Given the description of an element on the screen output the (x, y) to click on. 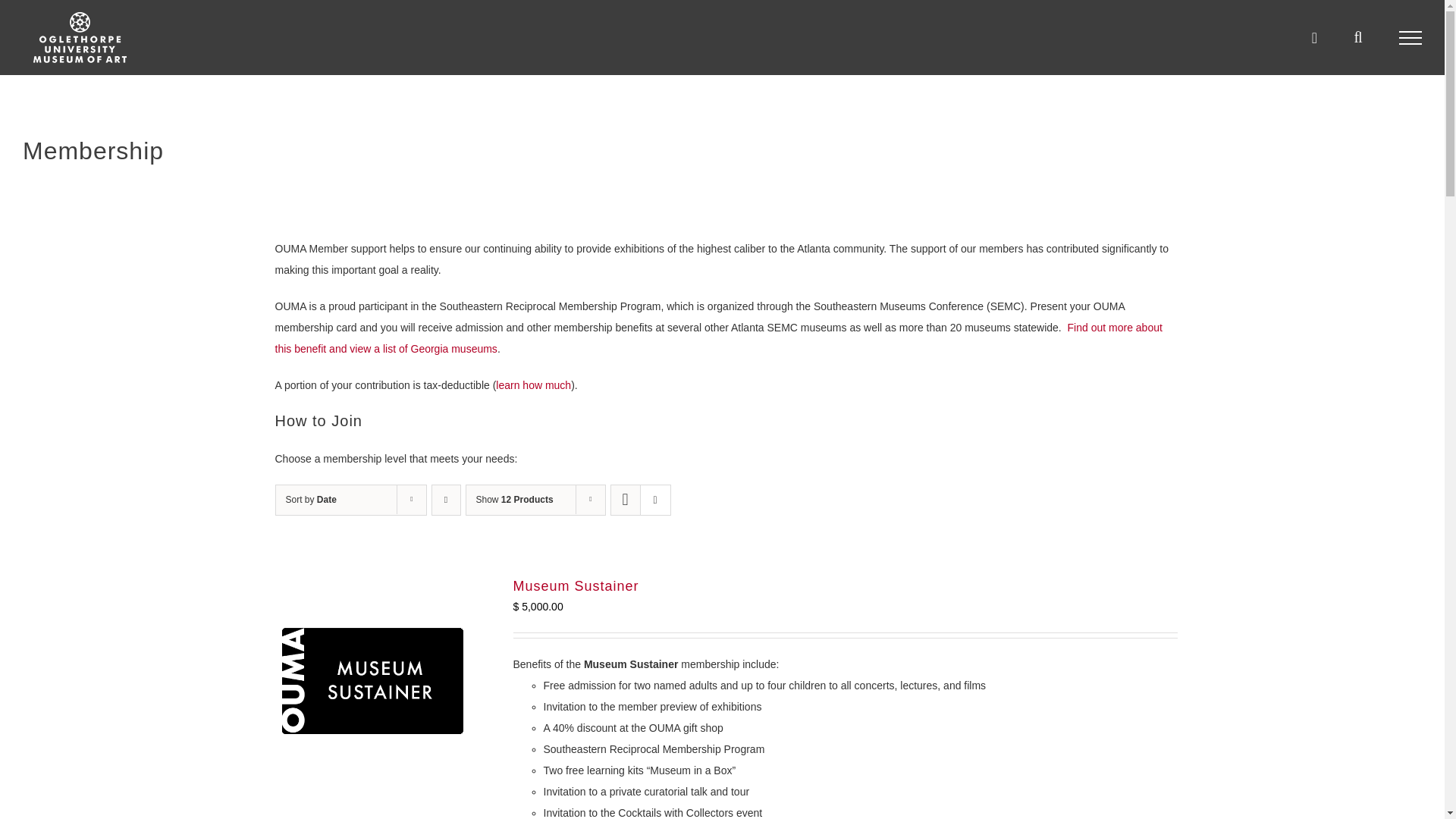
Membership Tax Deductibility (533, 385)
Museum Sustainer (575, 585)
learn how much (533, 385)
Sort by Date (310, 499)
Show 12 Products (514, 499)
